Given the description of an element on the screen output the (x, y) to click on. 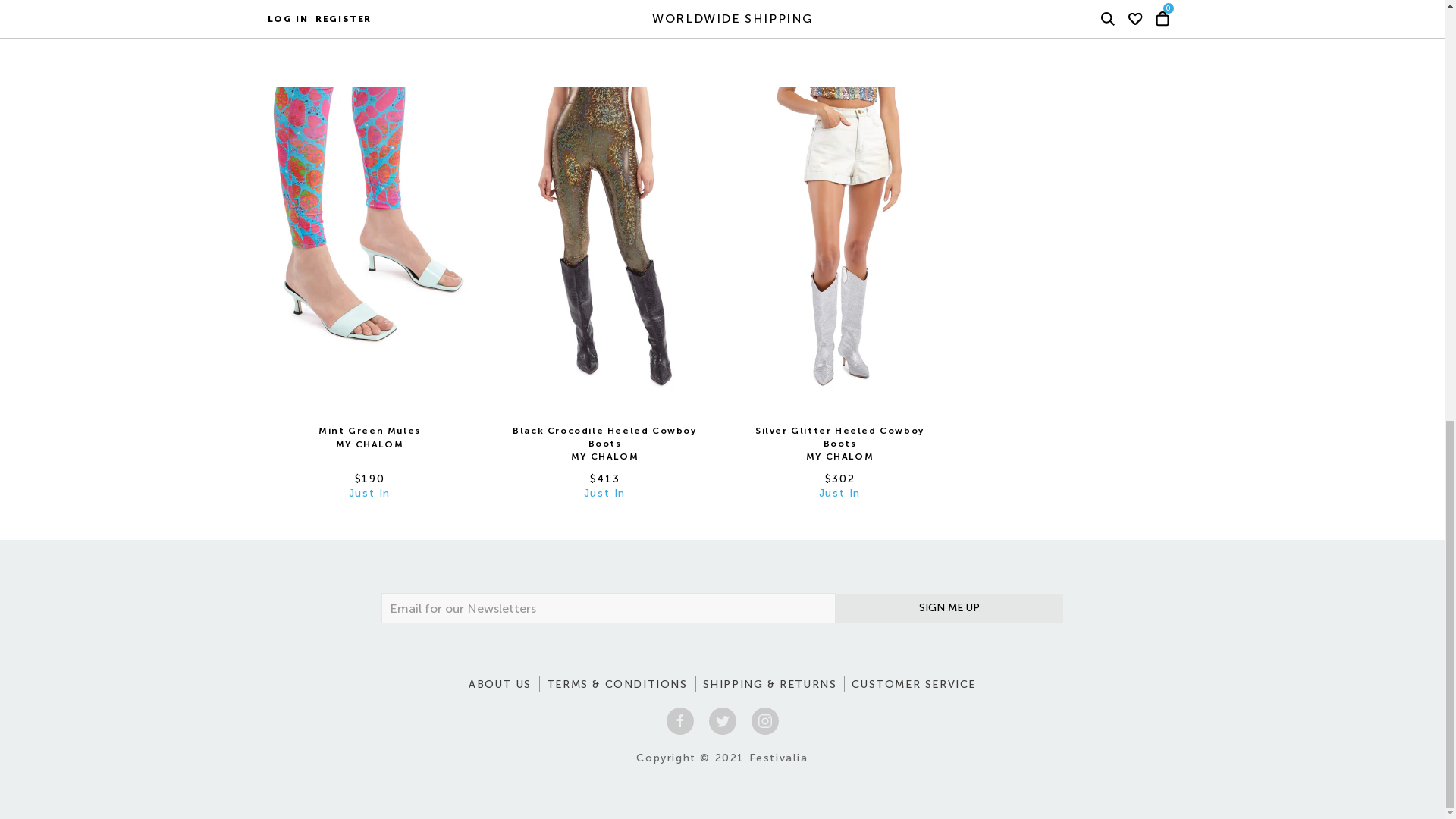
Sign me Up (948, 607)
